Given the description of an element on the screen output the (x, y) to click on. 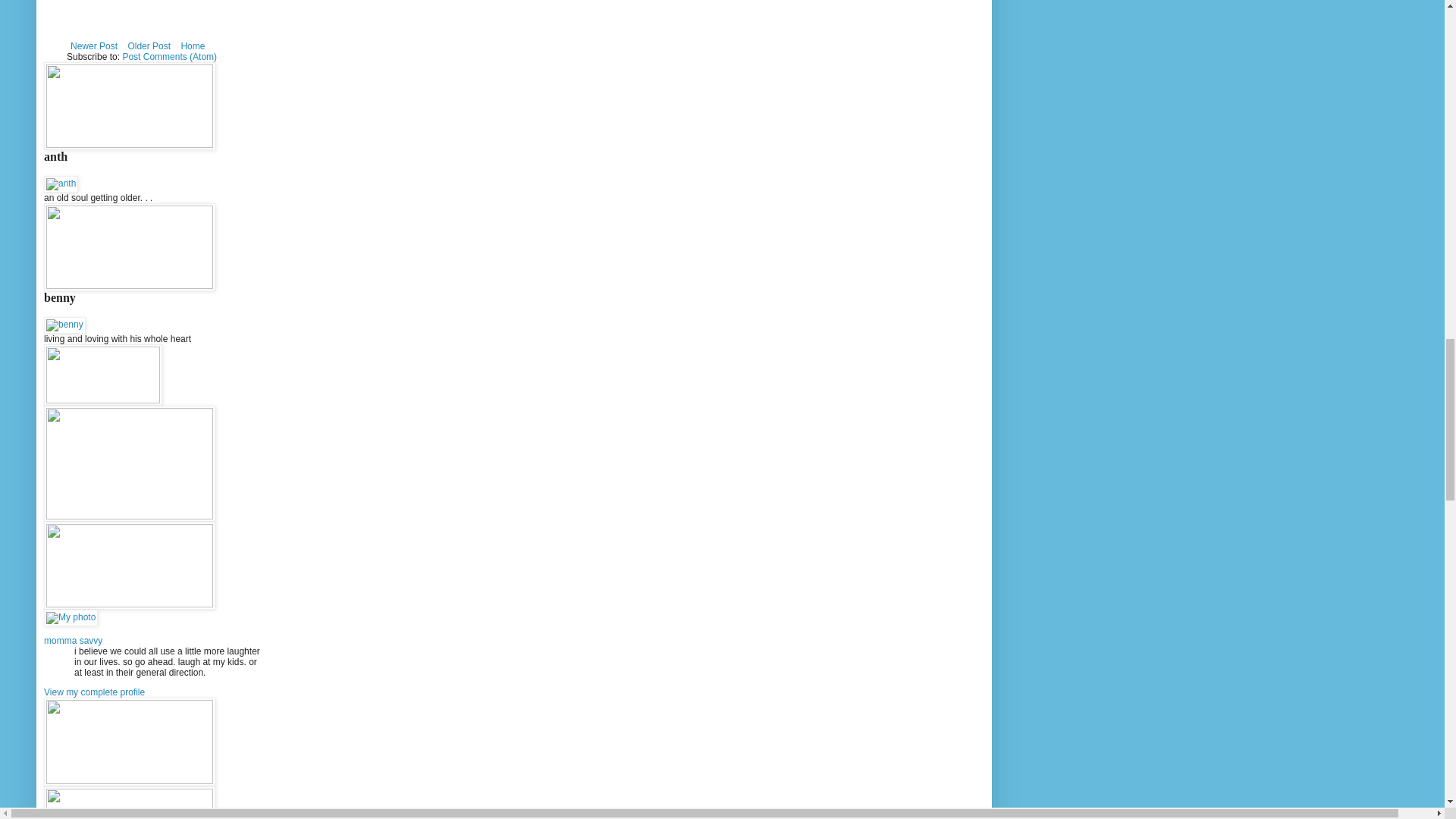
Older Post (148, 45)
Older Post (148, 45)
Newer Post (93, 45)
Newer Post (93, 45)
Home (192, 45)
